Given the description of an element on the screen output the (x, y) to click on. 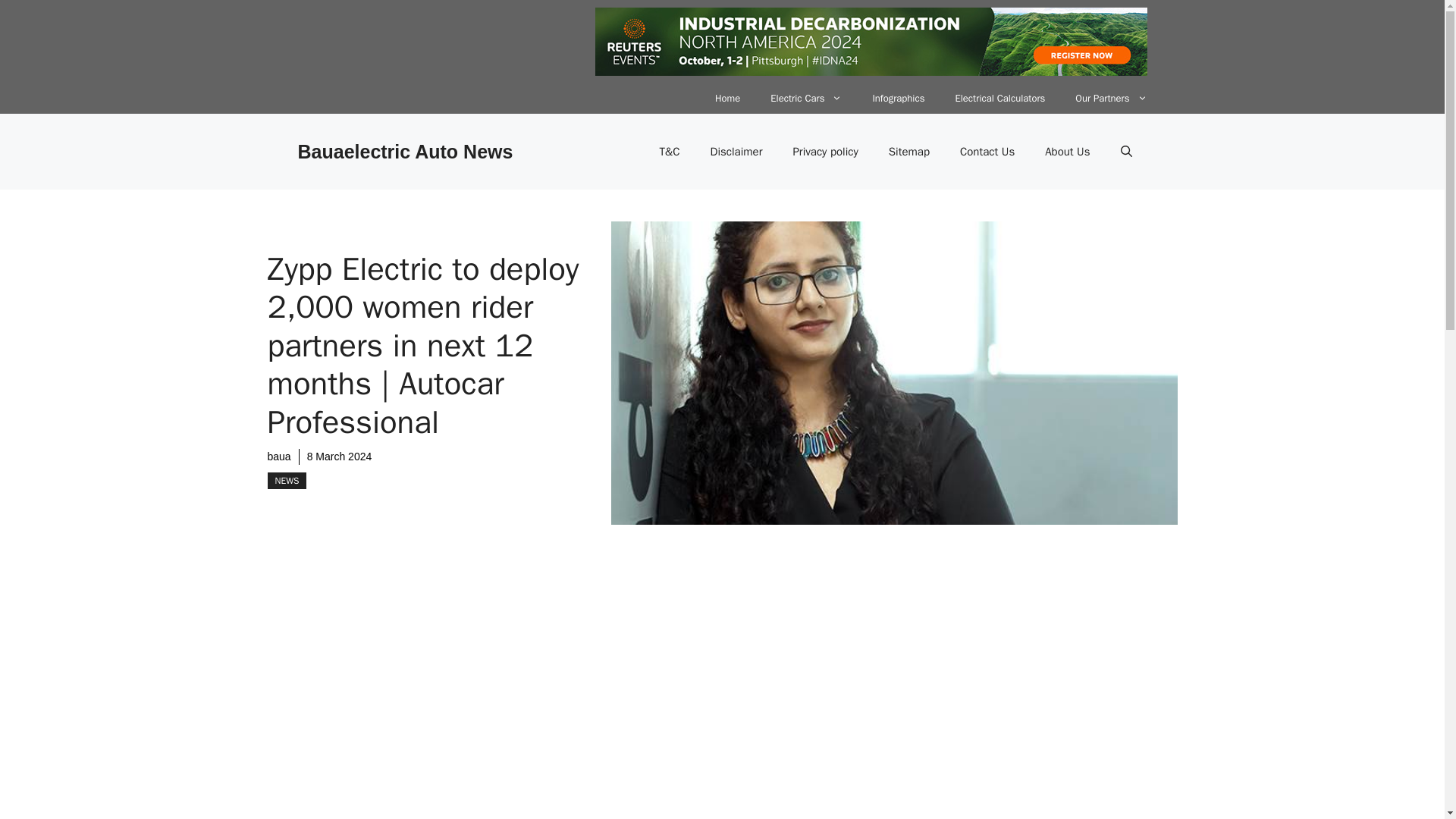
Home (727, 98)
Our Partners (1110, 98)
Advertisement (600, 707)
Electric Cars (806, 98)
Electrical Calculators (999, 98)
Disclaimer (736, 151)
Sitemap (908, 151)
Infographics (898, 98)
Privacy policy (824, 151)
Bauaelectric Auto News (404, 151)
